Given the description of an element on the screen output the (x, y) to click on. 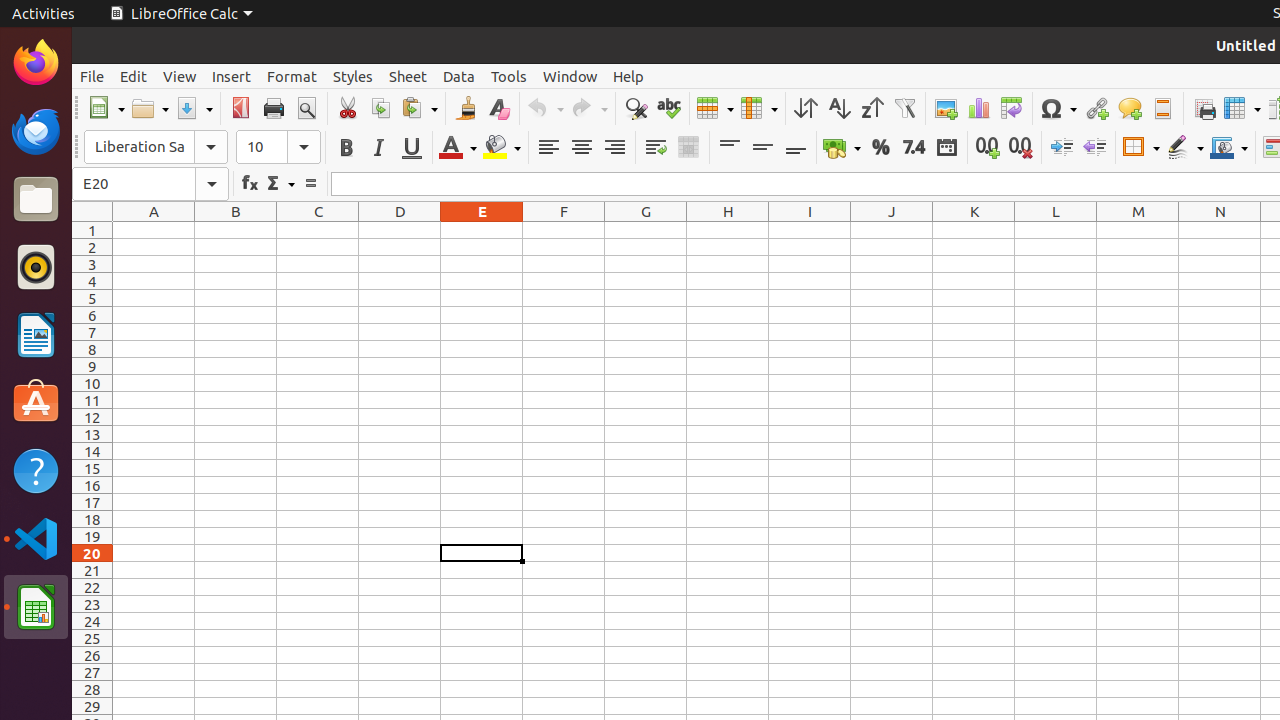
Insert Element type: menu (231, 76)
Headers and Footers Element type: push-button (1162, 108)
K1 Element type: table-cell (974, 230)
J1 Element type: table-cell (892, 230)
